Given the description of an element on the screen output the (x, y) to click on. 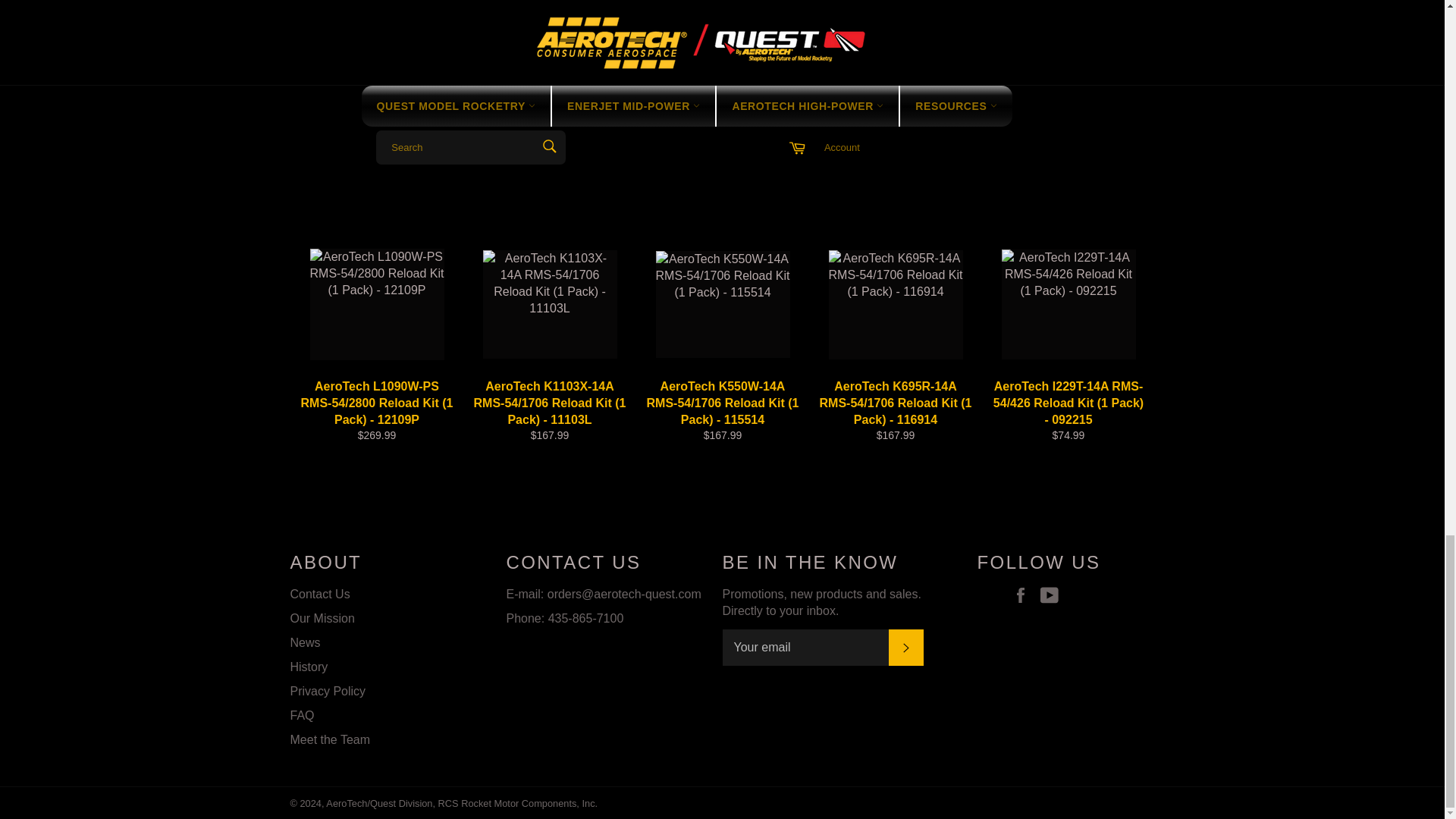
Share on Facebook (1088, 12)
Pin on Pinterest (1144, 12)
Tweet on Twitter (1117, 12)
